Given the description of an element on the screen output the (x, y) to click on. 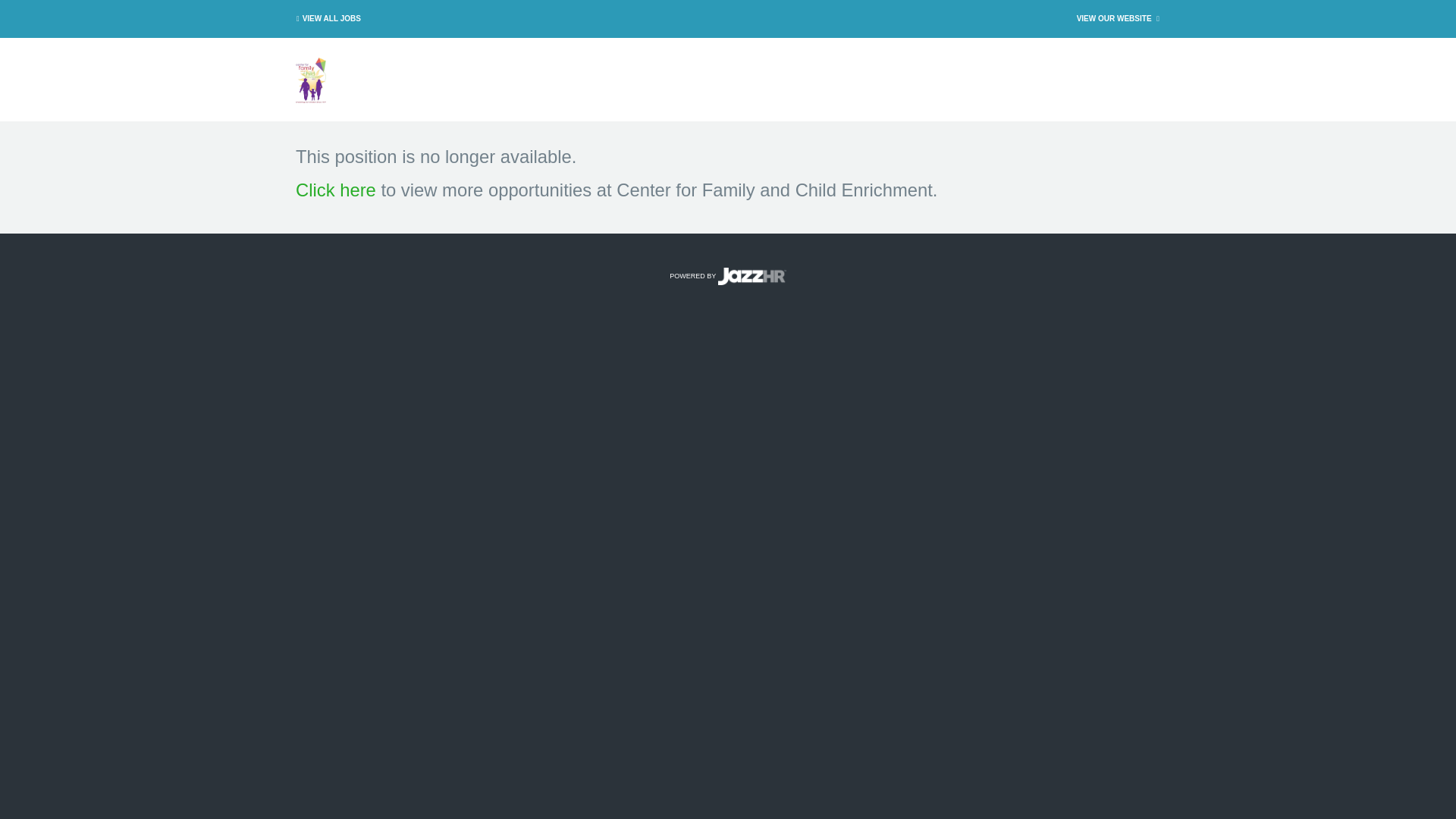
POWERED BY (727, 275)
VIEW ALL JOBS (326, 18)
VIEW OUR WEBSITE (1119, 18)
Click here (335, 189)
